Given the description of an element on the screen output the (x, y) to click on. 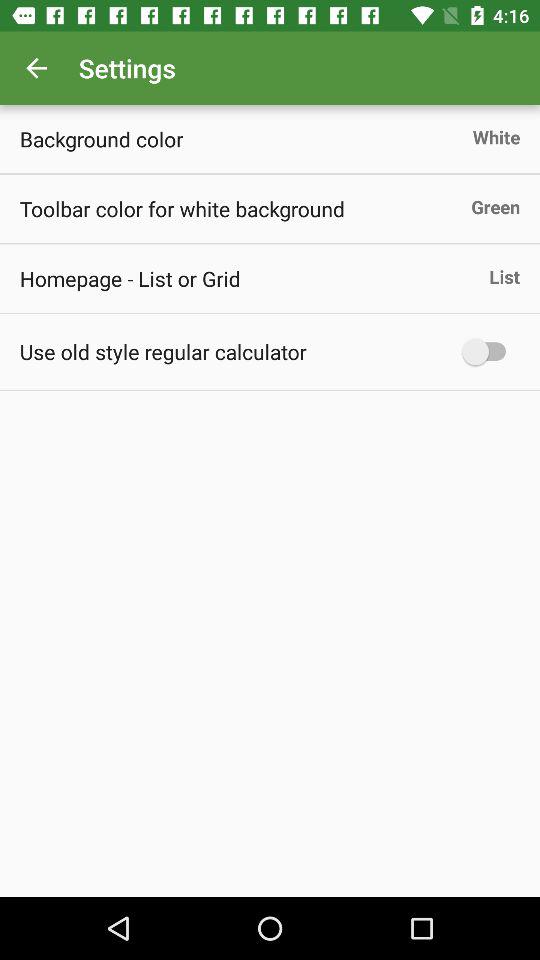
jump to toolbar color for item (182, 208)
